Given the description of an element on the screen output the (x, y) to click on. 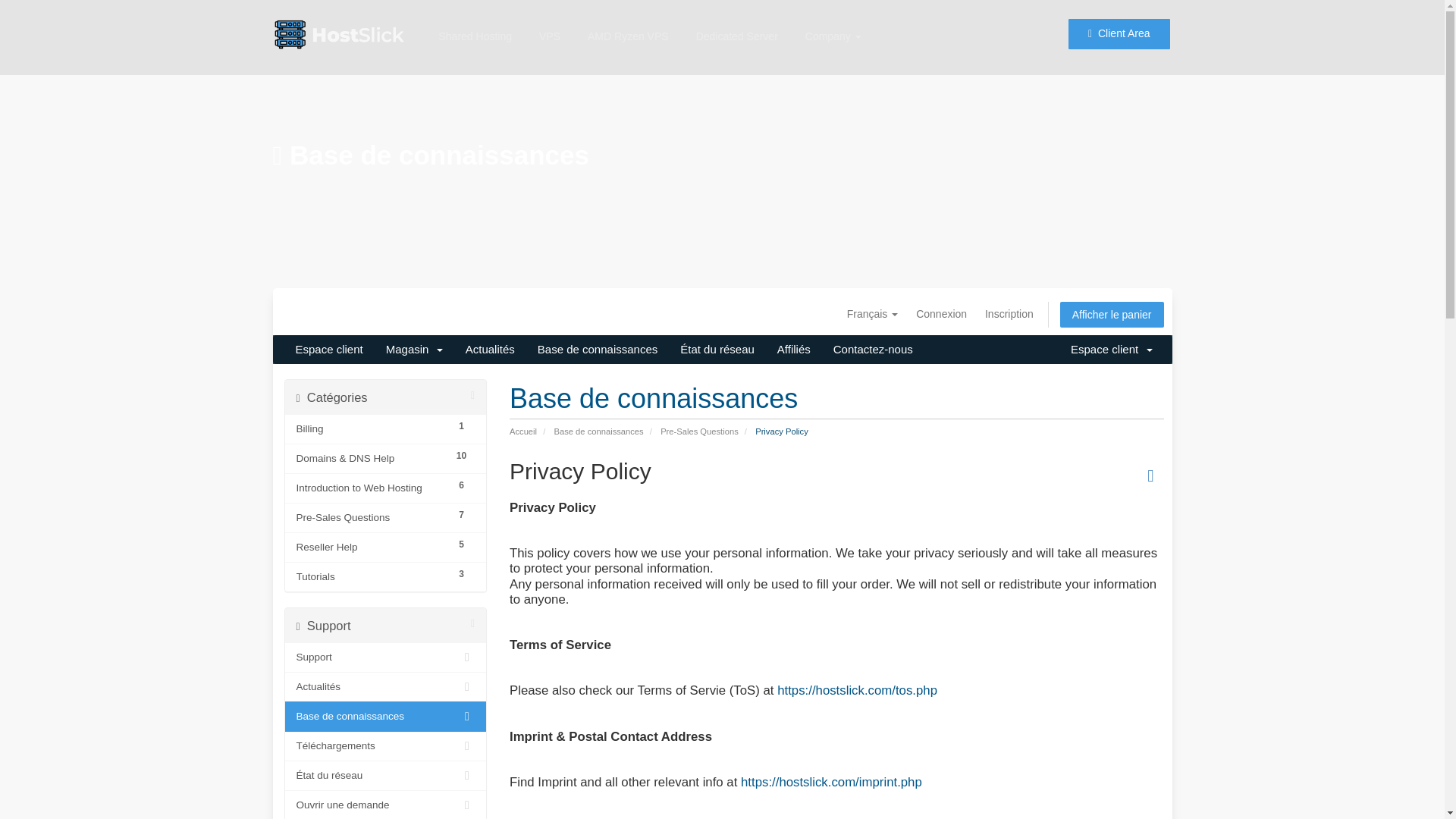
Shared Hosting (475, 17)
Dedicated Server (737, 22)
Billing (370, 429)
Company (833, 24)
  Client Area (1118, 22)
Introduction to Web Hosting (370, 488)
AMD Ryzen VPS (627, 22)
Tutorials (370, 577)
  Client Area (1118, 26)
VPS (549, 19)
Reseller Help (370, 547)
Pre-Sales Questions (370, 517)
